Given the description of an element on the screen output the (x, y) to click on. 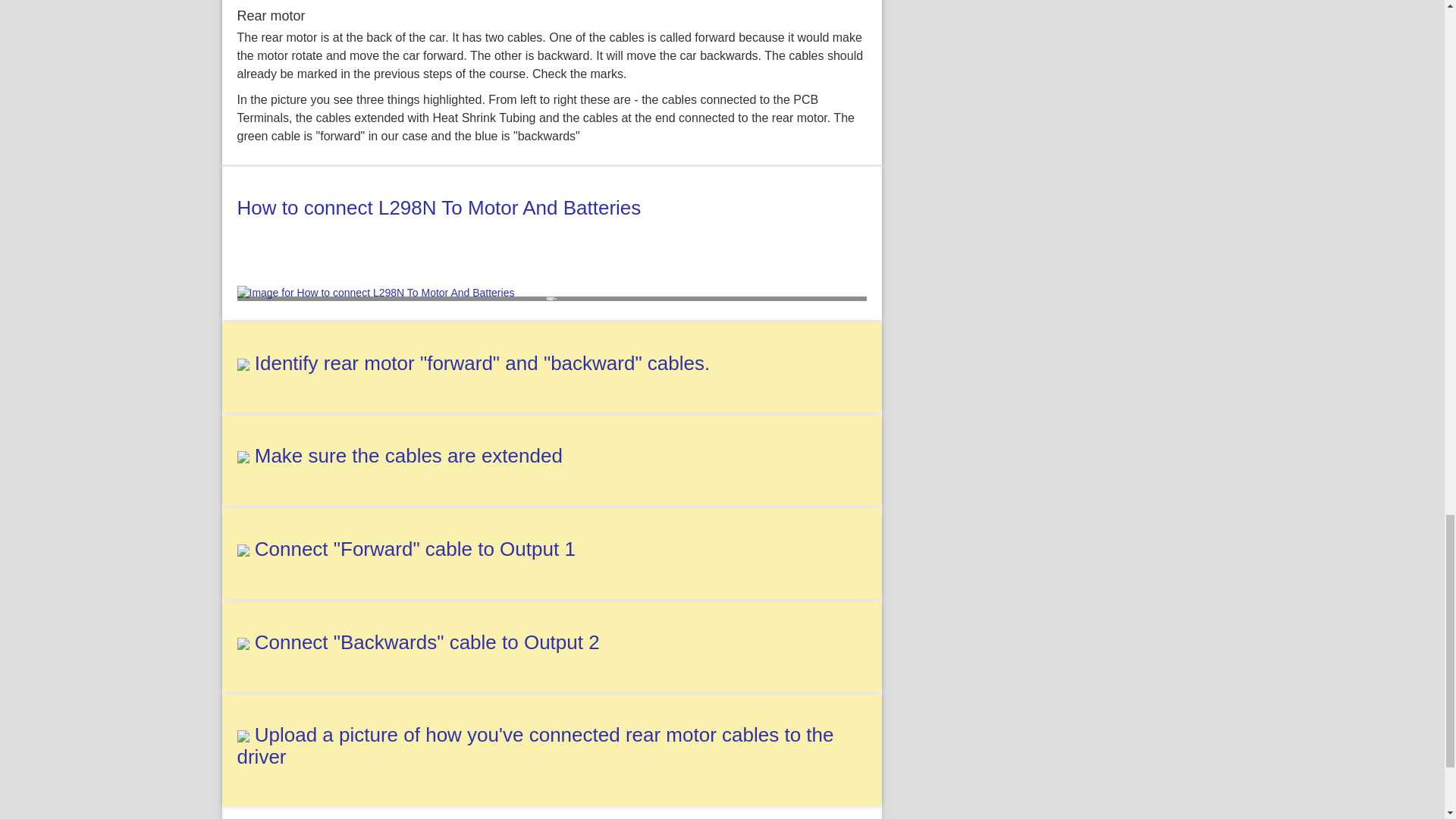
Identify rear motor "forward" and "backward" cables. (482, 363)
Connect "Forward" cable to Output 1 (414, 548)
How to connect L298N To Motor And Batteries (437, 207)
Make sure the cables are extended (408, 455)
Connect "Backwards" cable to Output 2 (426, 641)
